Given the description of an element on the screen output the (x, y) to click on. 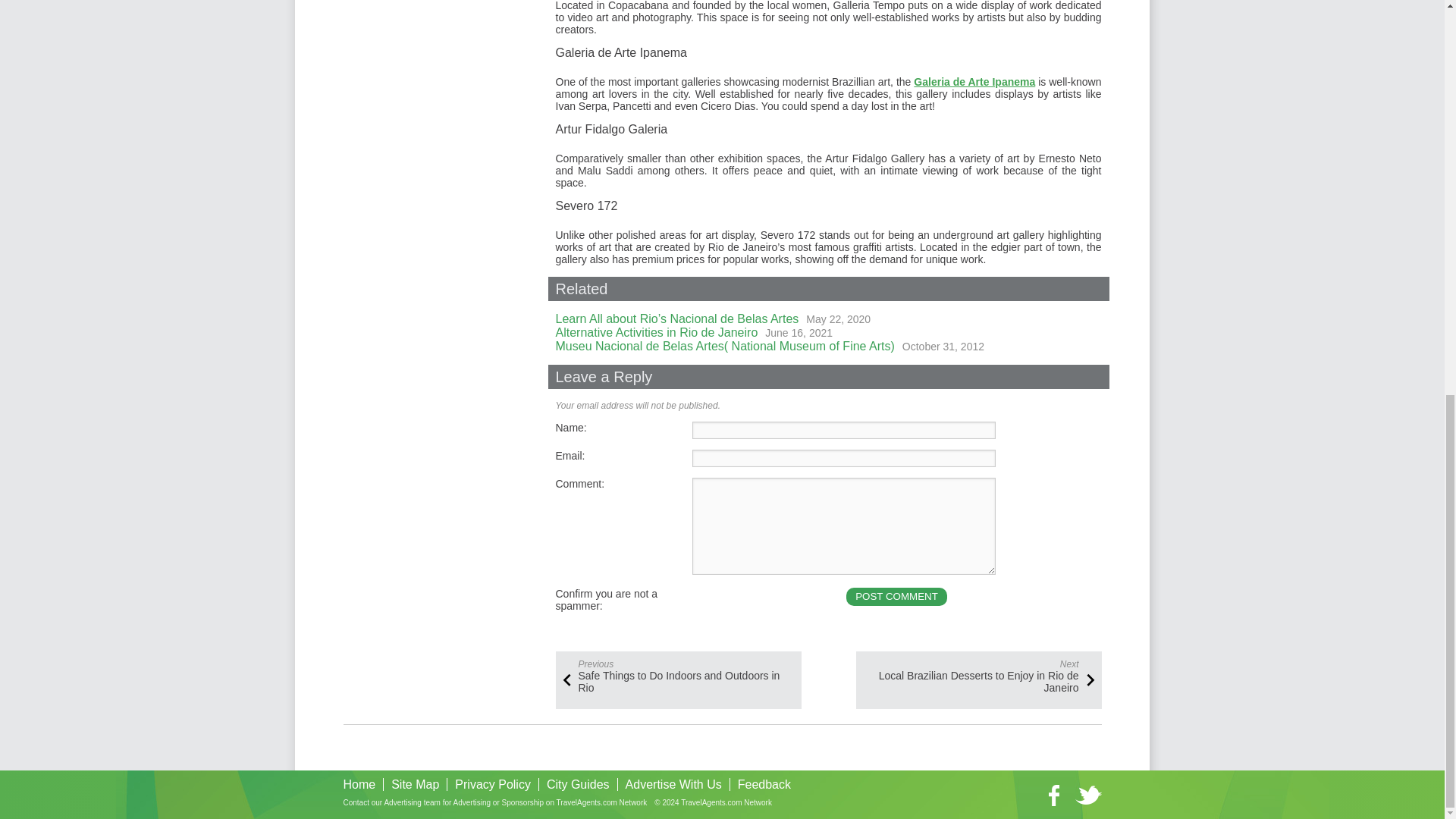
Post Comment (896, 597)
